Given the description of an element on the screen output the (x, y) to click on. 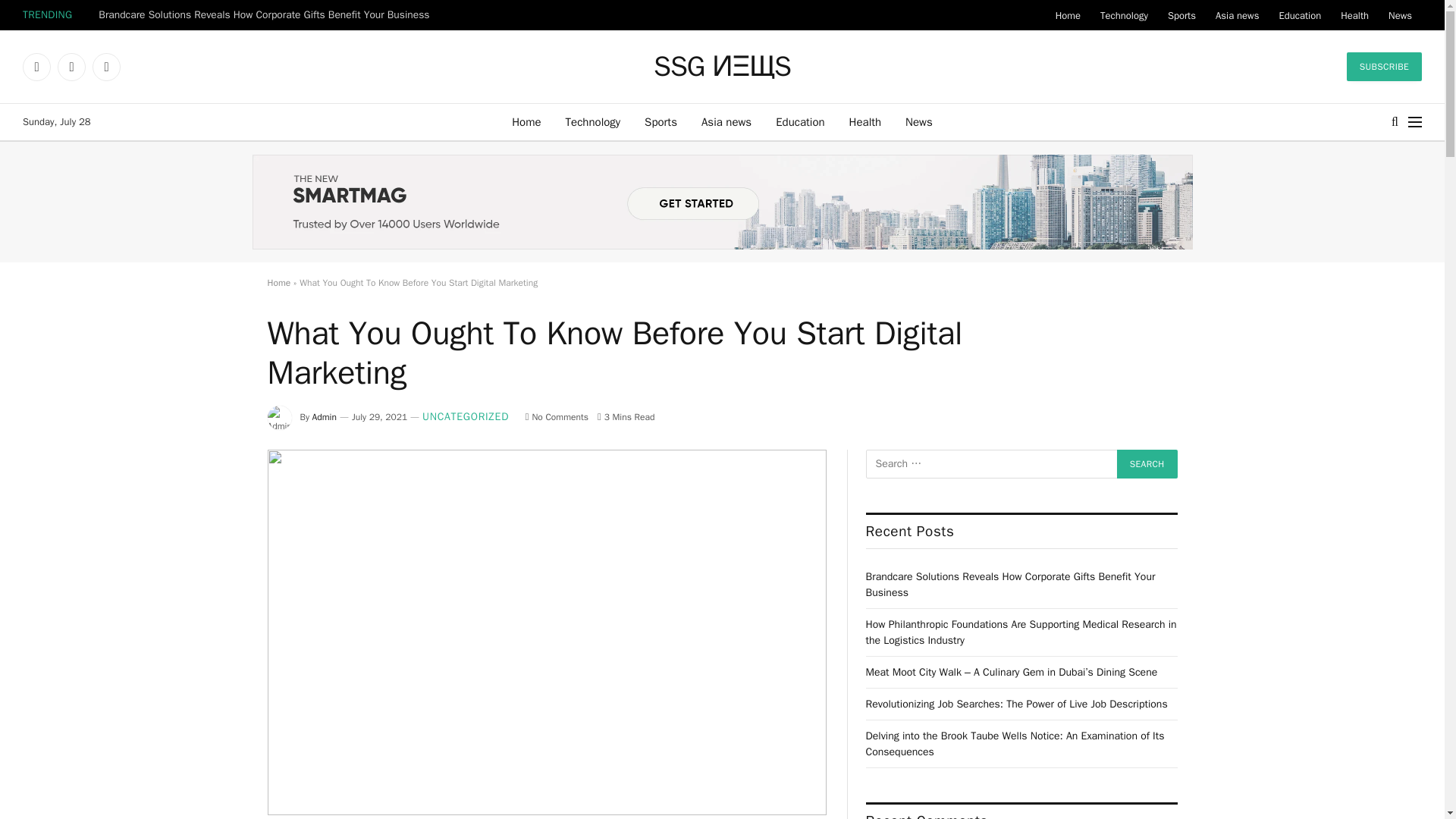
Technology (1123, 15)
Search (1146, 463)
Health (1354, 15)
Posts by Admin (324, 417)
News (918, 122)
Facebook (36, 67)
Search (1146, 463)
Technology (593, 122)
Search (1394, 121)
Home (526, 122)
Home (1067, 15)
Education (798, 122)
Health (865, 122)
Sports (659, 122)
